Given the description of an element on the screen output the (x, y) to click on. 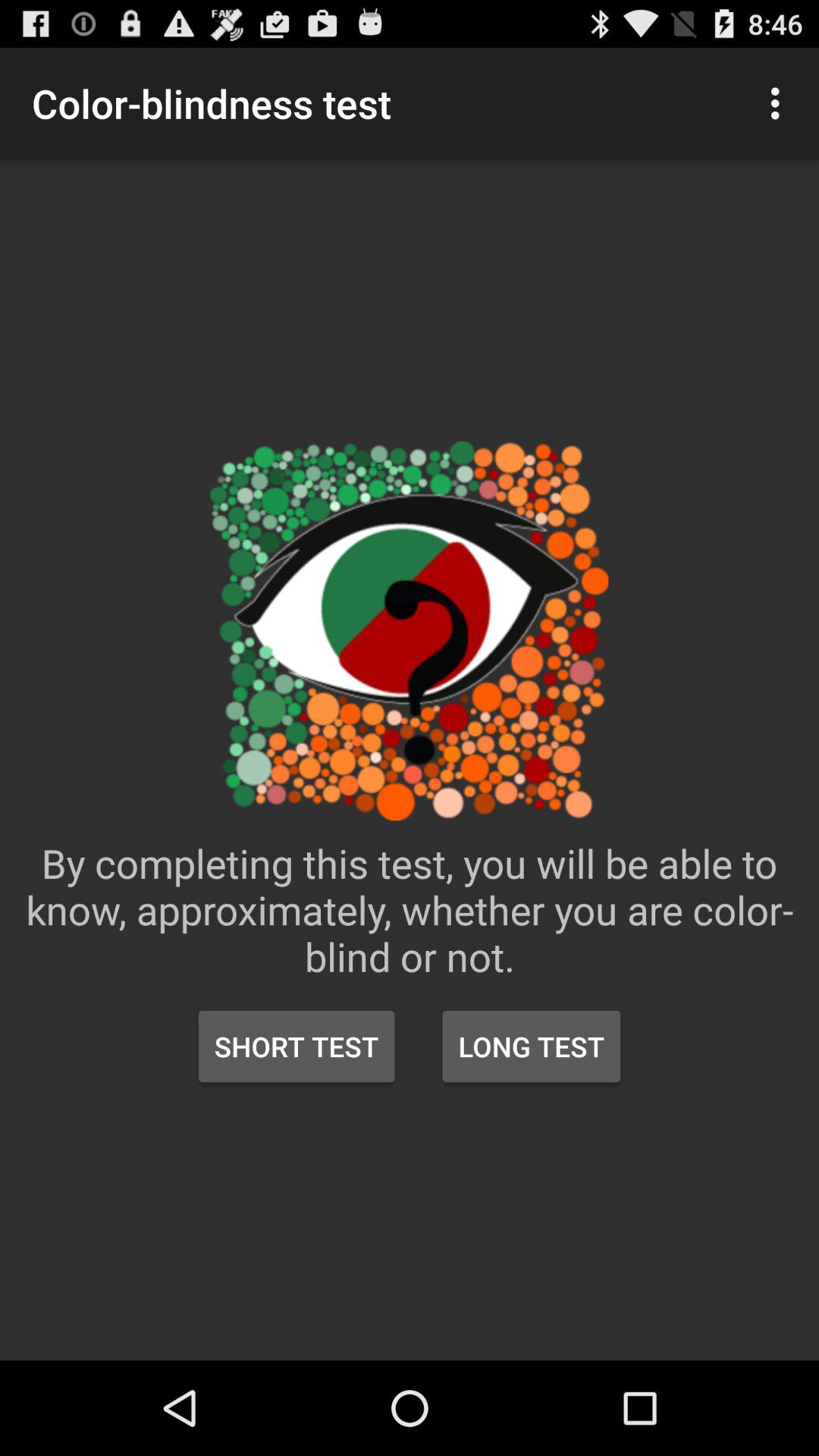
open button to the left of the long test (296, 1046)
